Given the description of an element on the screen output the (x, y) to click on. 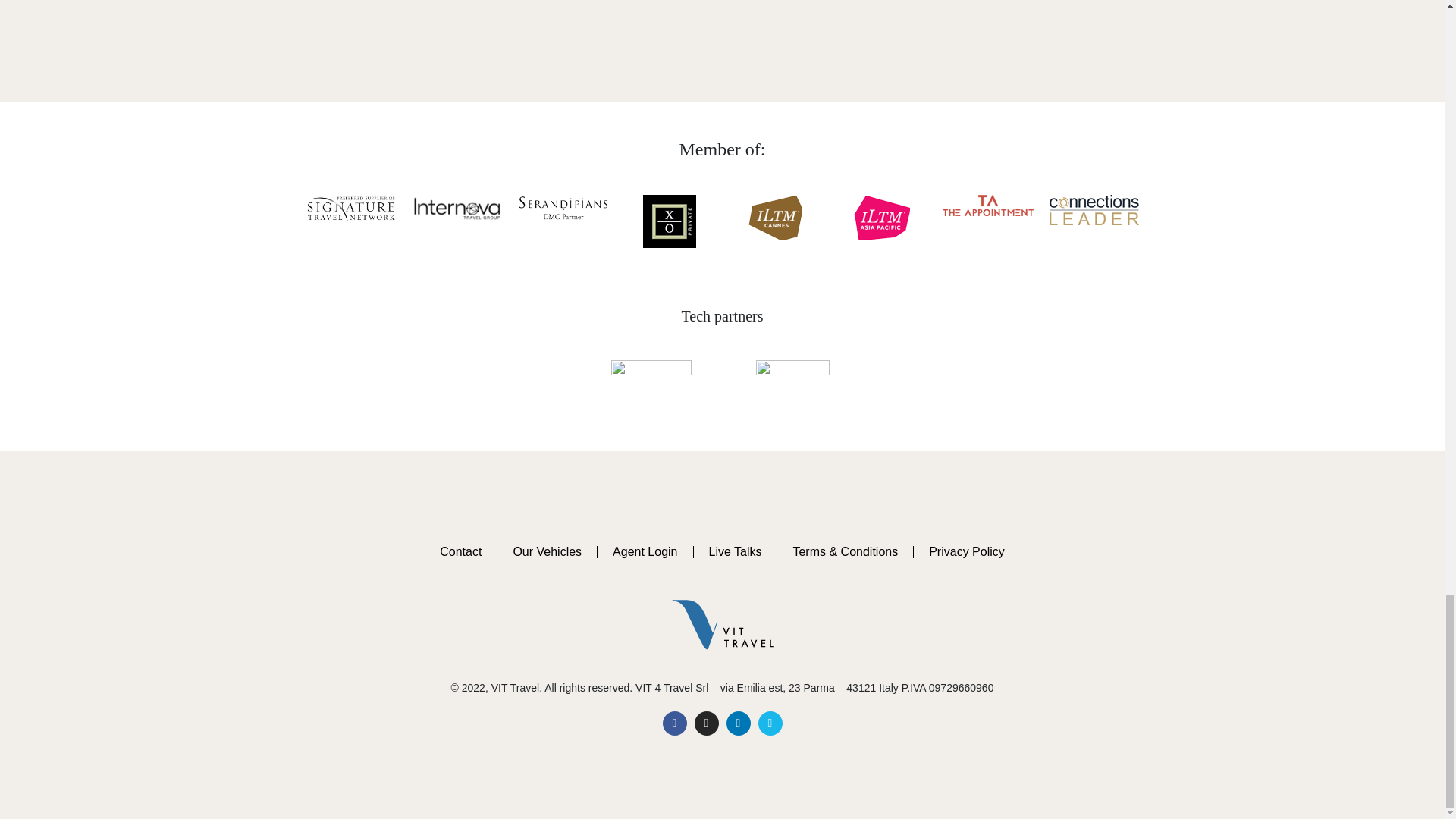
Our Vehicles (546, 551)
Live Talks (734, 551)
Contact (460, 551)
Privacy Policy (967, 551)
Agent Login (644, 551)
